Given the description of an element on the screen output the (x, y) to click on. 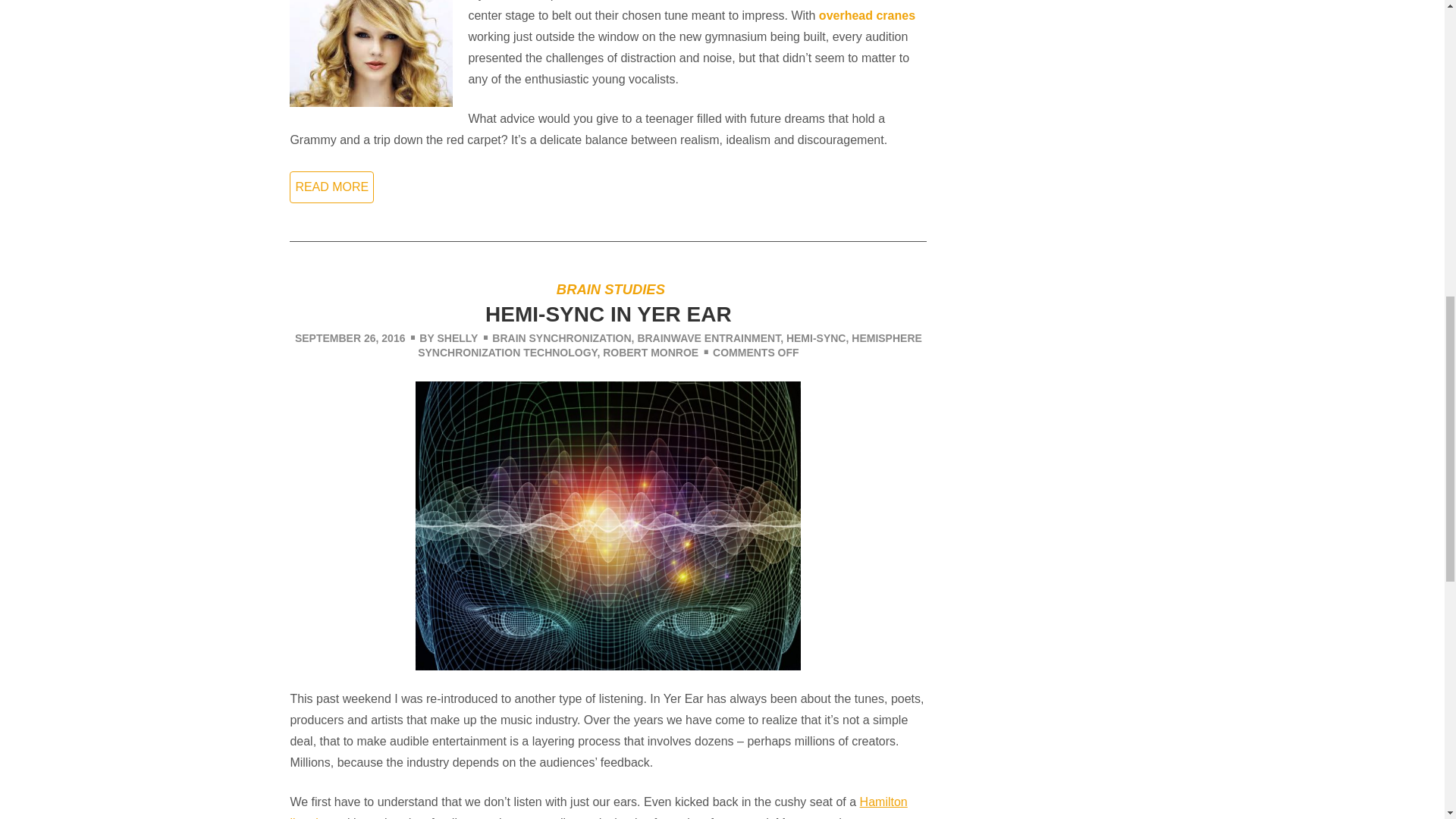
SHELLY (456, 337)
BRAIN STUDIES (610, 289)
BRAIN SYNCHRONIZATION (561, 337)
HEMI-SYNC IN YER EAR (608, 313)
READ MORE (331, 187)
